Given the description of an element on the screen output the (x, y) to click on. 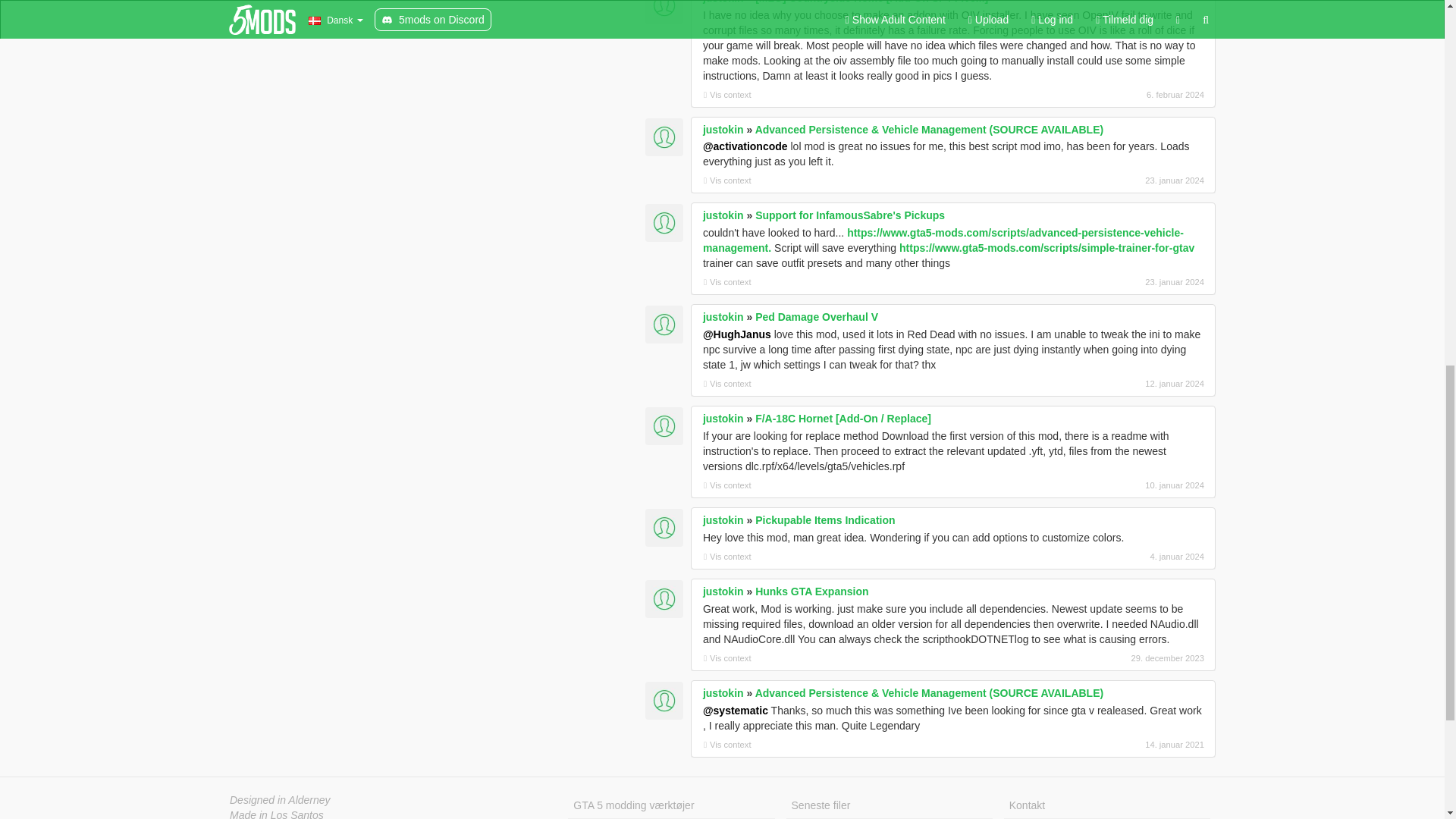
 6. februar 2024, 05.16 (1124, 94)
14. januar 2021, 18.22 (1124, 744)
10. januar 2024, 15.35 (1124, 485)
23. januar 2024, 09.00 (1124, 180)
 4. januar 2024, 04.13 (1124, 556)
23. januar 2024, 08.24 (1124, 282)
29. december 2023, 10.07 (1124, 658)
12. januar 2024, 05.31 (1124, 383)
